Given the description of an element on the screen output the (x, y) to click on. 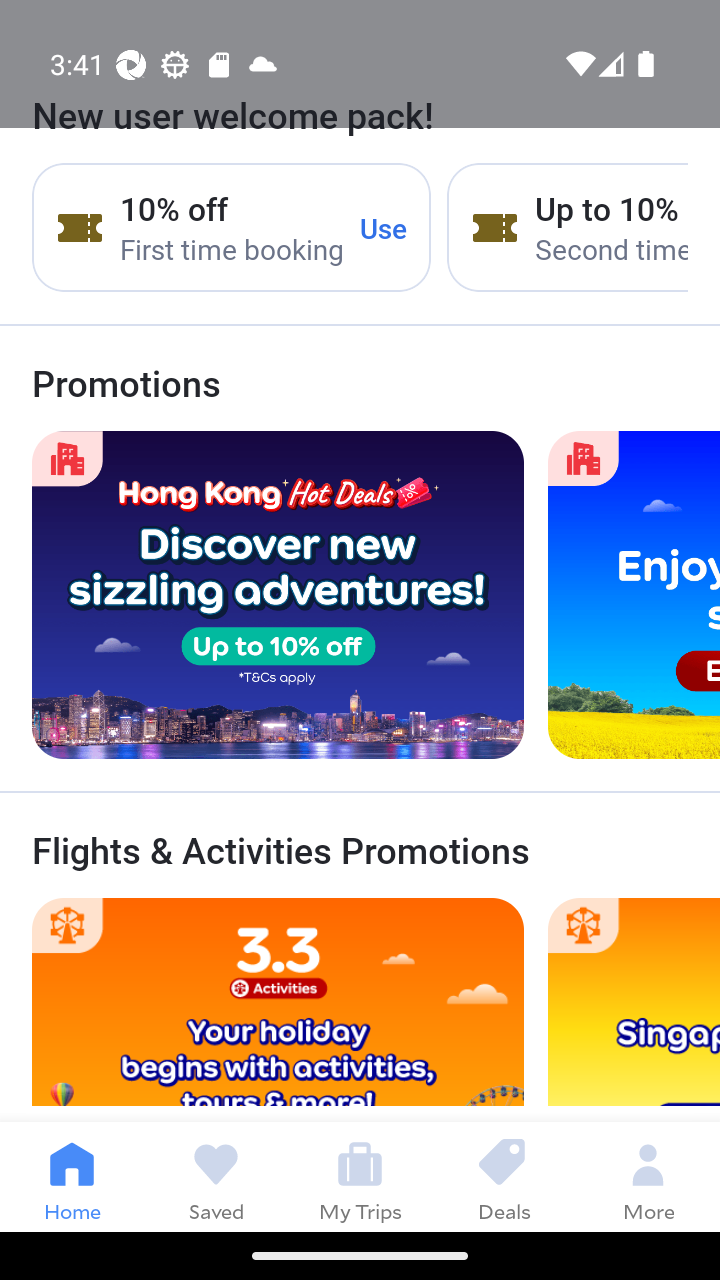
Use (384, 228)
Home (72, 1176)
Saved (216, 1176)
My Trips (360, 1176)
Deals (504, 1176)
More (648, 1176)
